Given the description of an element on the screen output the (x, y) to click on. 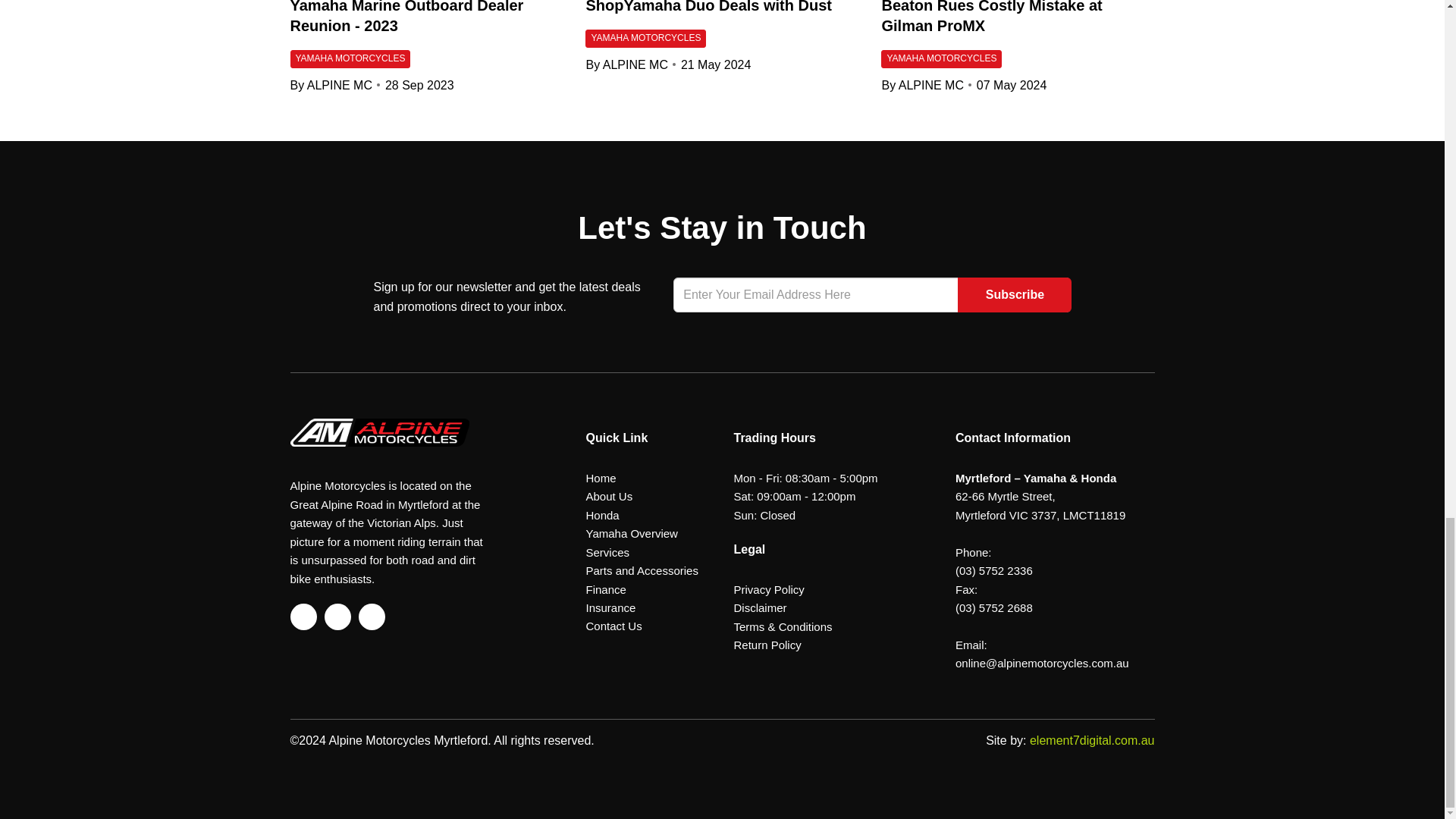
Subscribe (1014, 294)
